Given the description of an element on the screen output the (x, y) to click on. 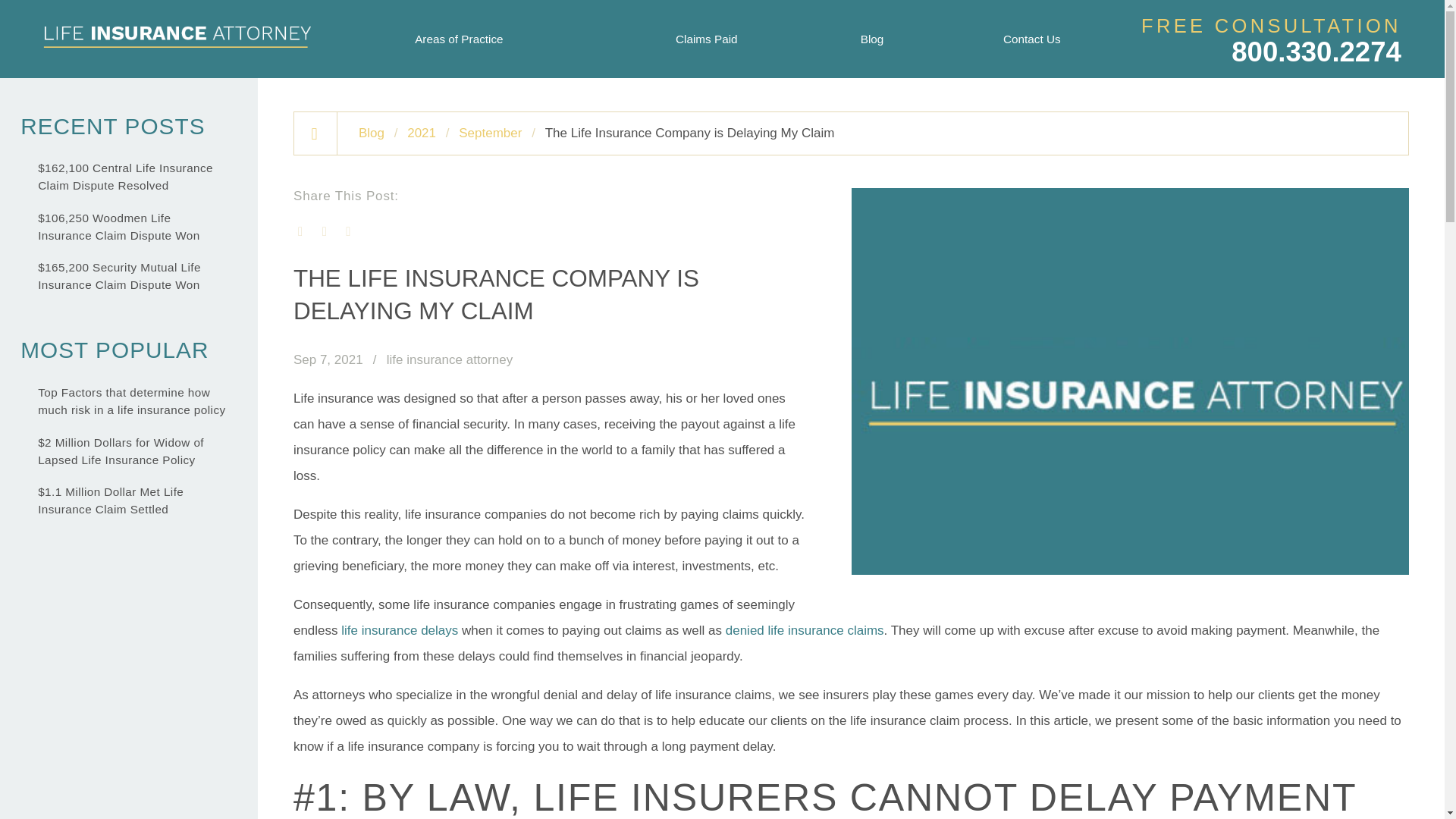
Areas of Practice (459, 39)
Contact Us (1031, 39)
Blog (871, 39)
Claims Paid (706, 39)
800.330.2274 (1315, 52)
